Given the description of an element on the screen output the (x, y) to click on. 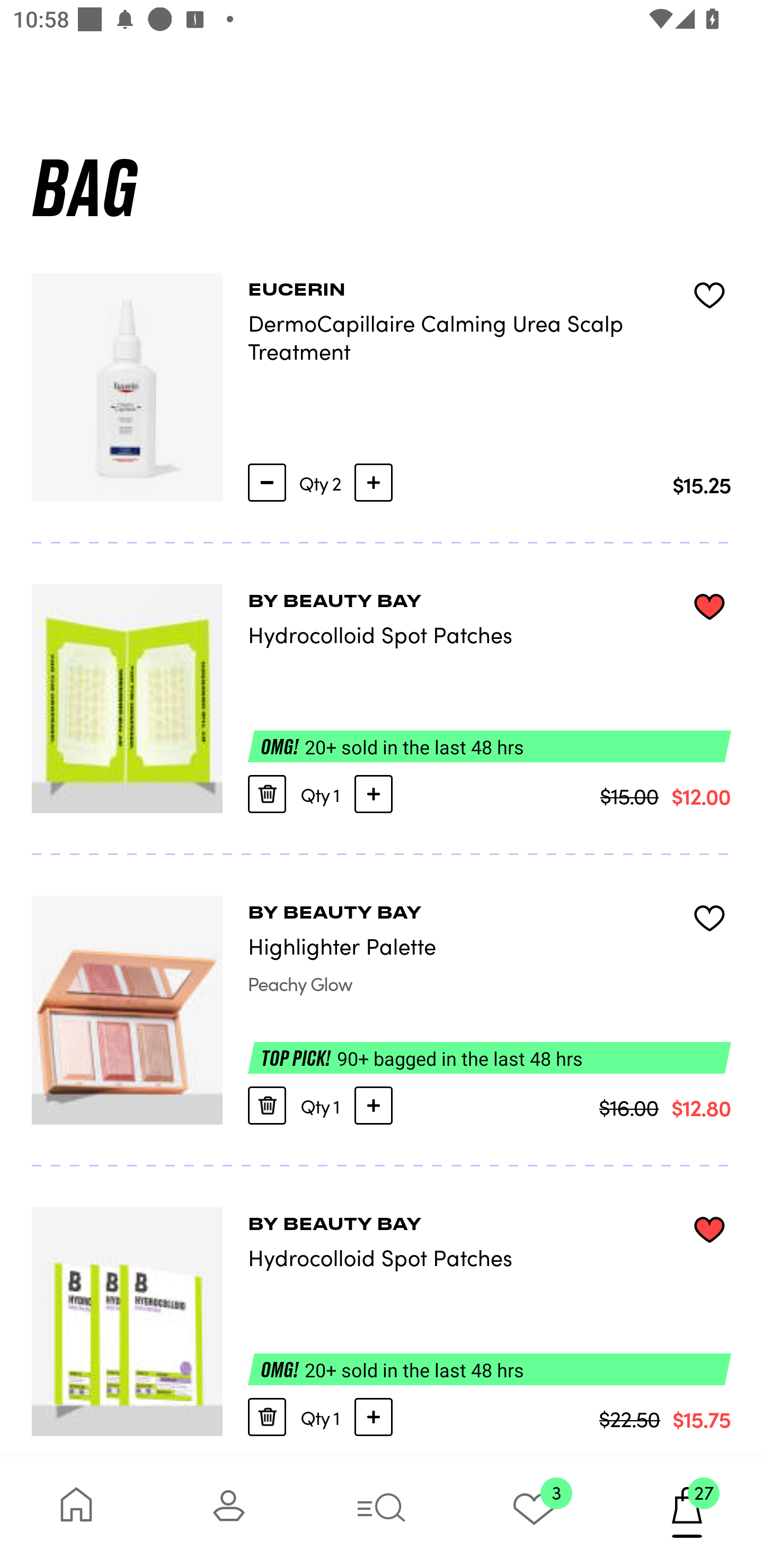
3 (533, 1512)
27 (686, 1512)
